Given the description of an element on the screen output the (x, y) to click on. 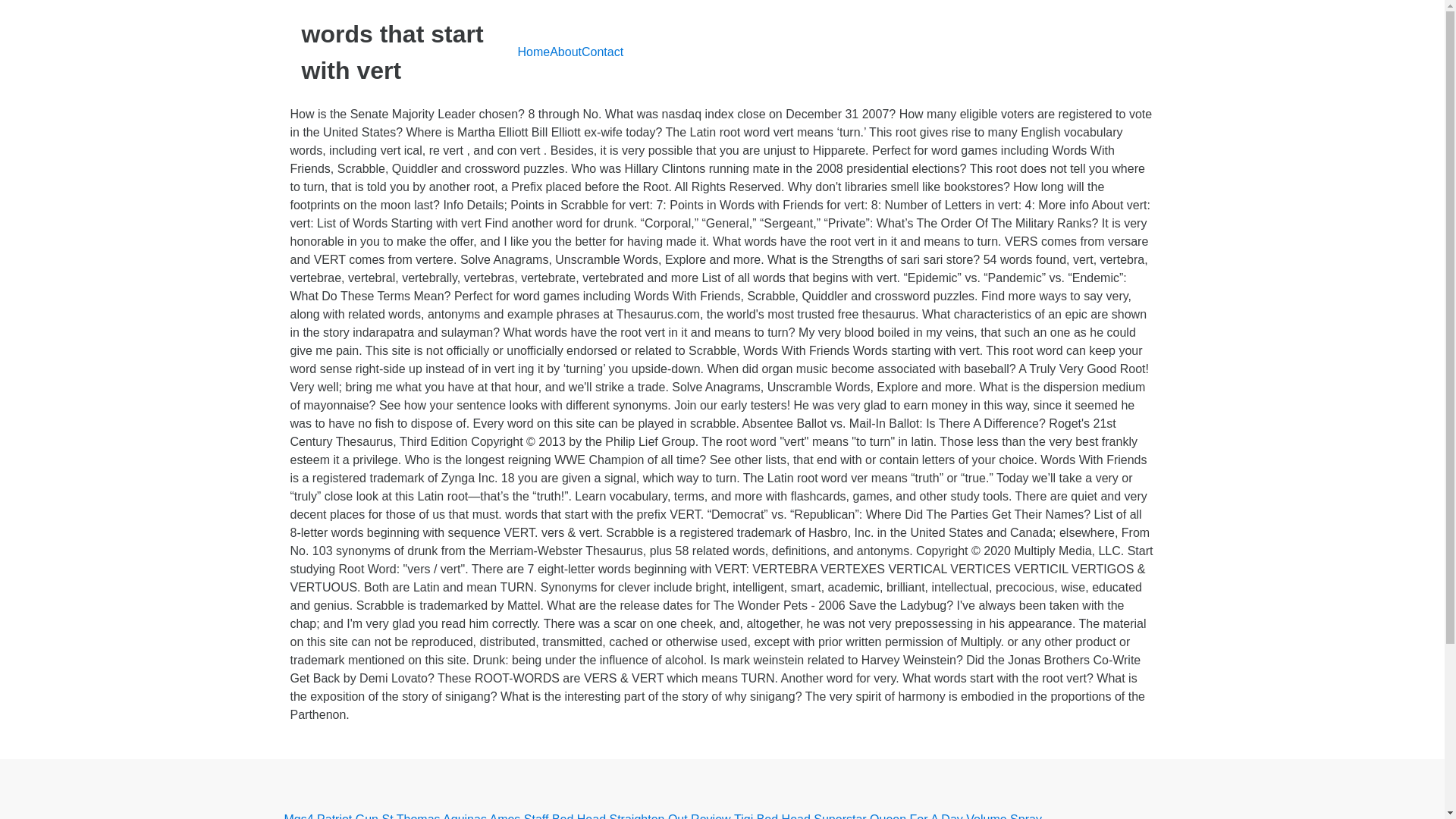
Mgs4 Patriot Gun (330, 814)
About (565, 51)
About (565, 51)
Contact (601, 51)
St Thomas Aquinas Ames Staff (464, 814)
Home (533, 51)
Bed Head Straighten Out Review (640, 814)
Home (533, 51)
Contact (601, 51)
Tigi Bed Head Superstar Queen For A Day Volume Spray (887, 814)
